Given the description of an element on the screen output the (x, y) to click on. 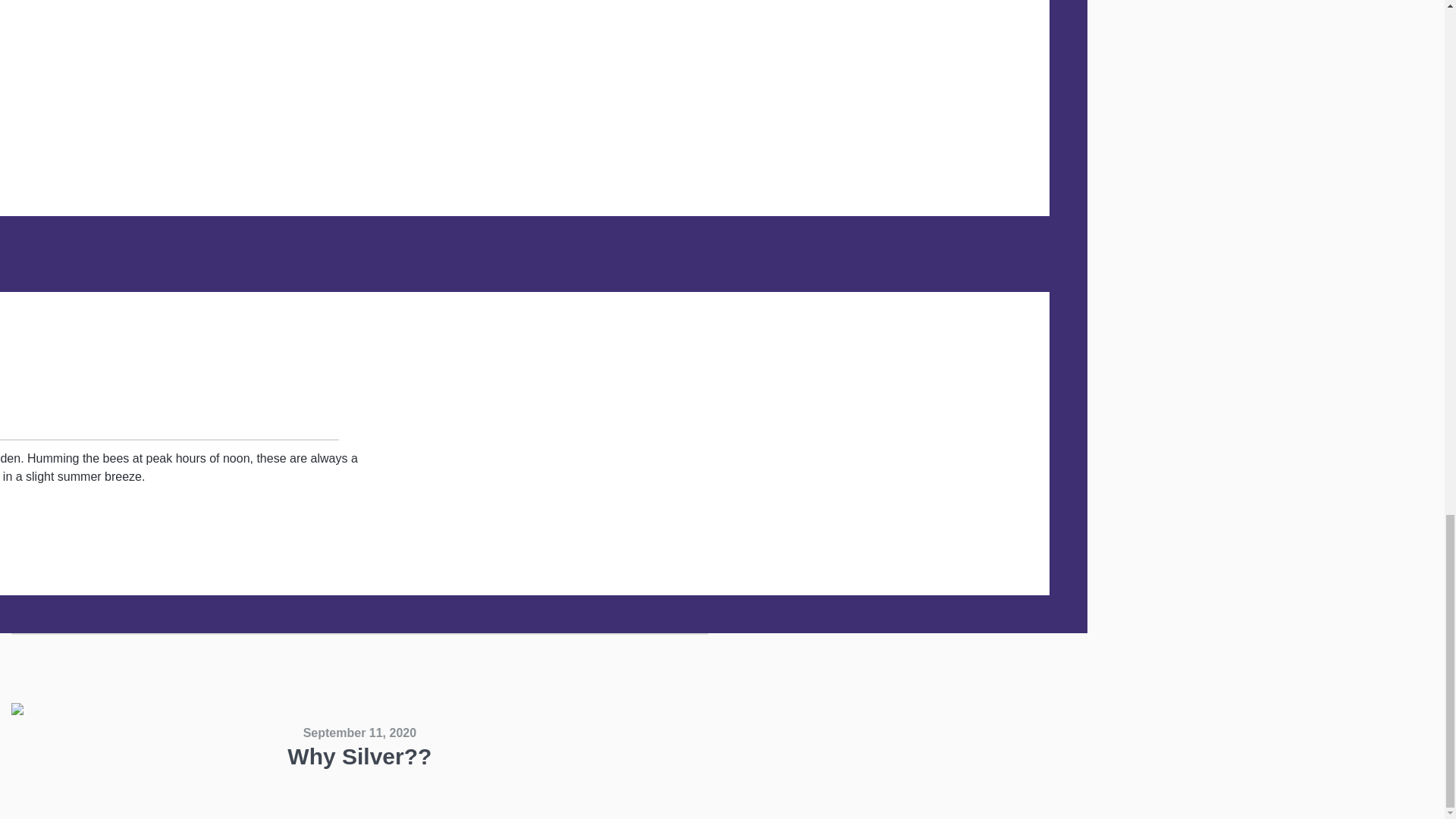
Why Silver?? (358, 756)
